Given the description of an element on the screen output the (x, y) to click on. 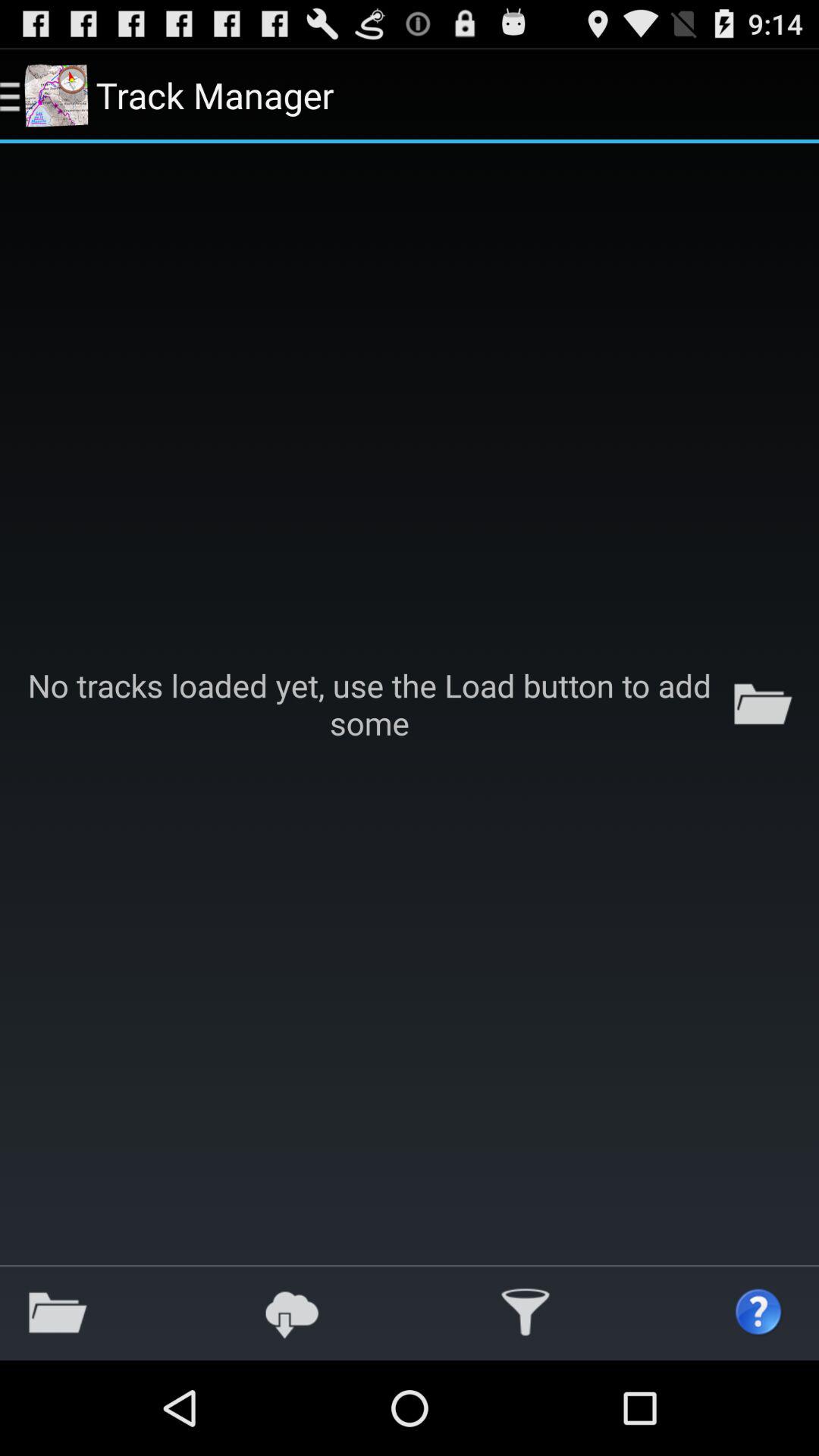
select the app below no tracks loaded app (291, 1312)
